Given the description of an element on the screen output the (x, y) to click on. 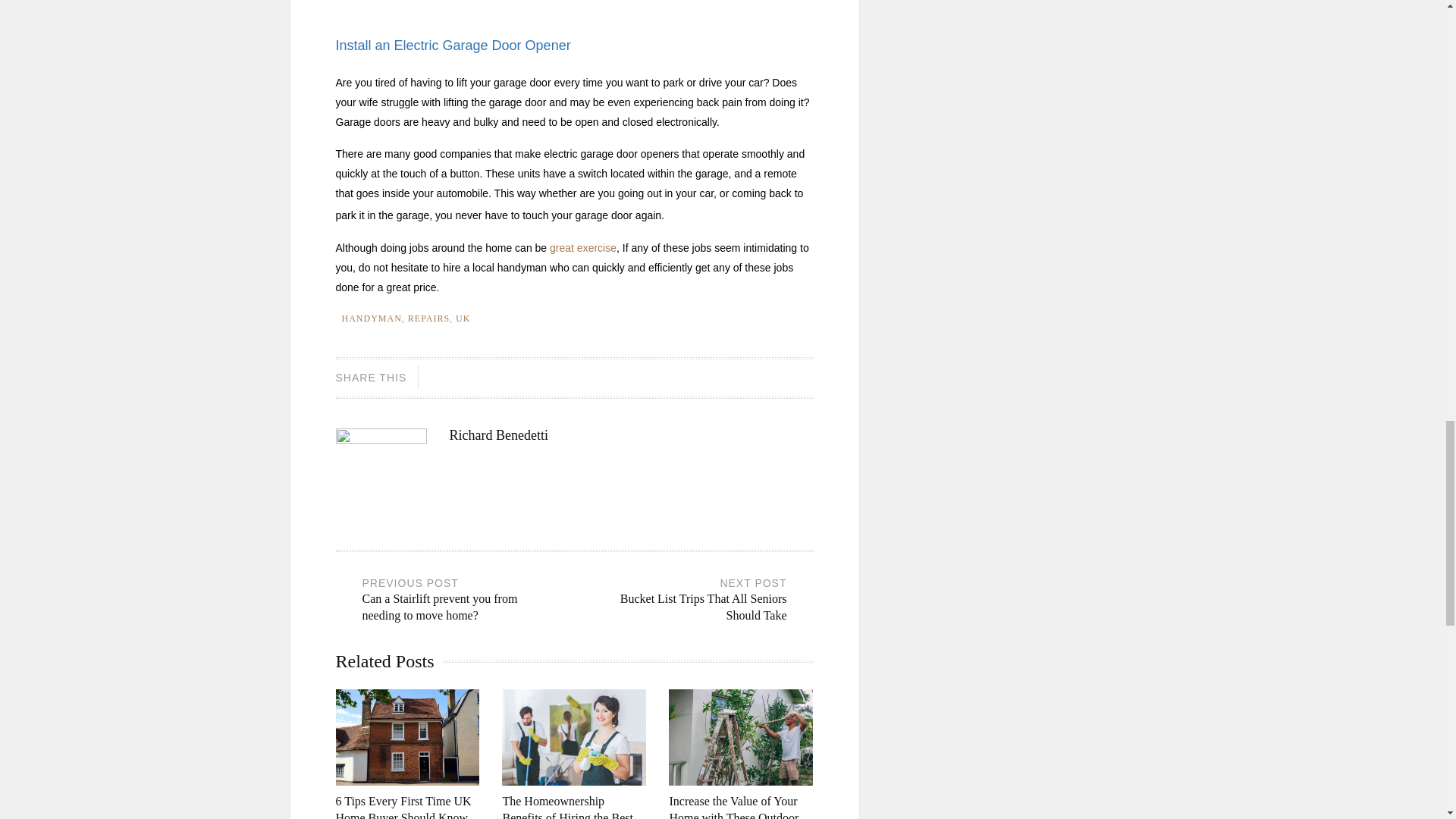
UK (698, 601)
great exercise (462, 317)
REPAIRS (582, 247)
HANDYMAN (428, 317)
